Given the description of an element on the screen output the (x, y) to click on. 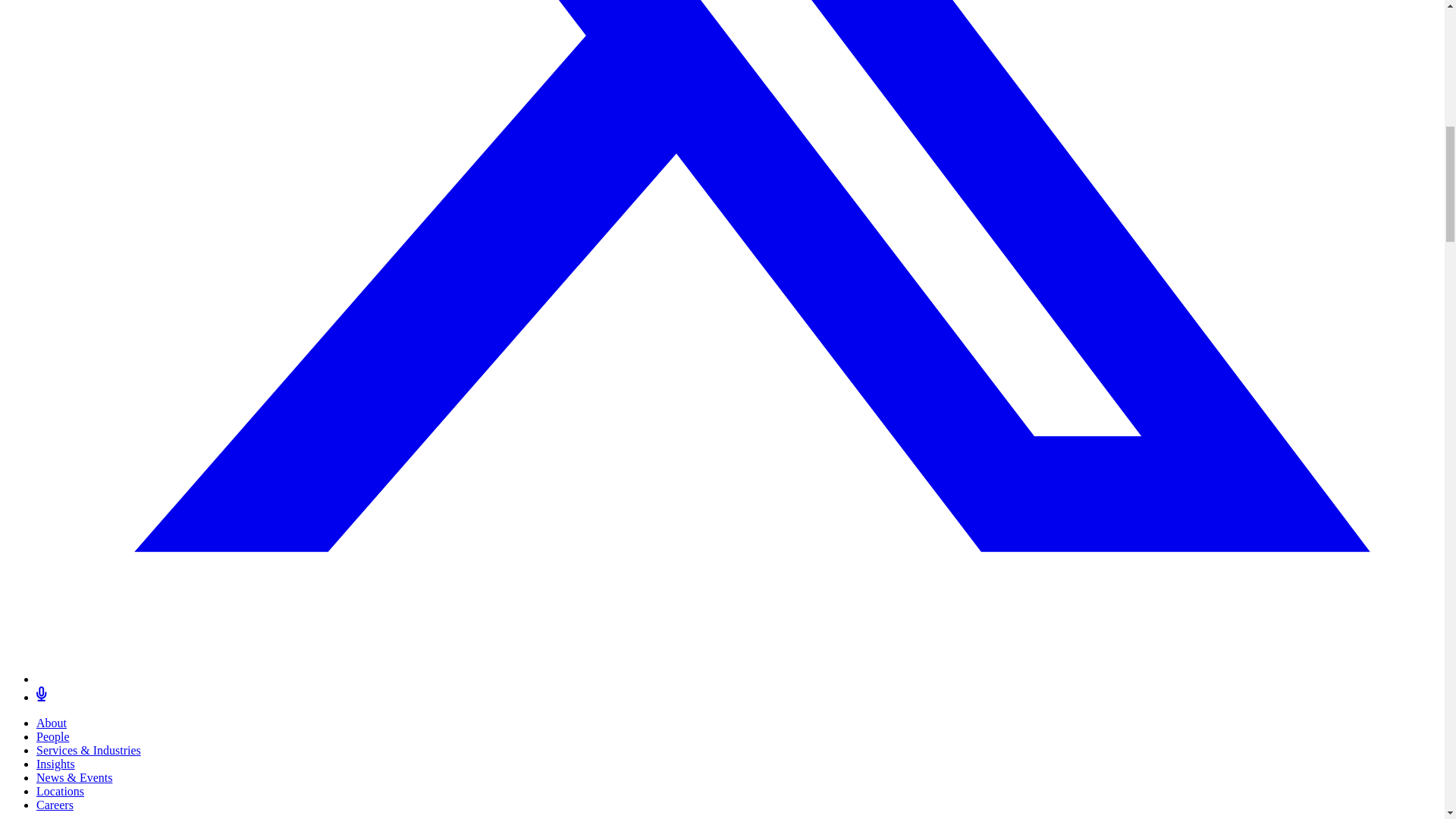
People (52, 736)
About (51, 722)
Locations (60, 790)
Careers (55, 804)
Insights (55, 763)
